Given the description of an element on the screen output the (x, y) to click on. 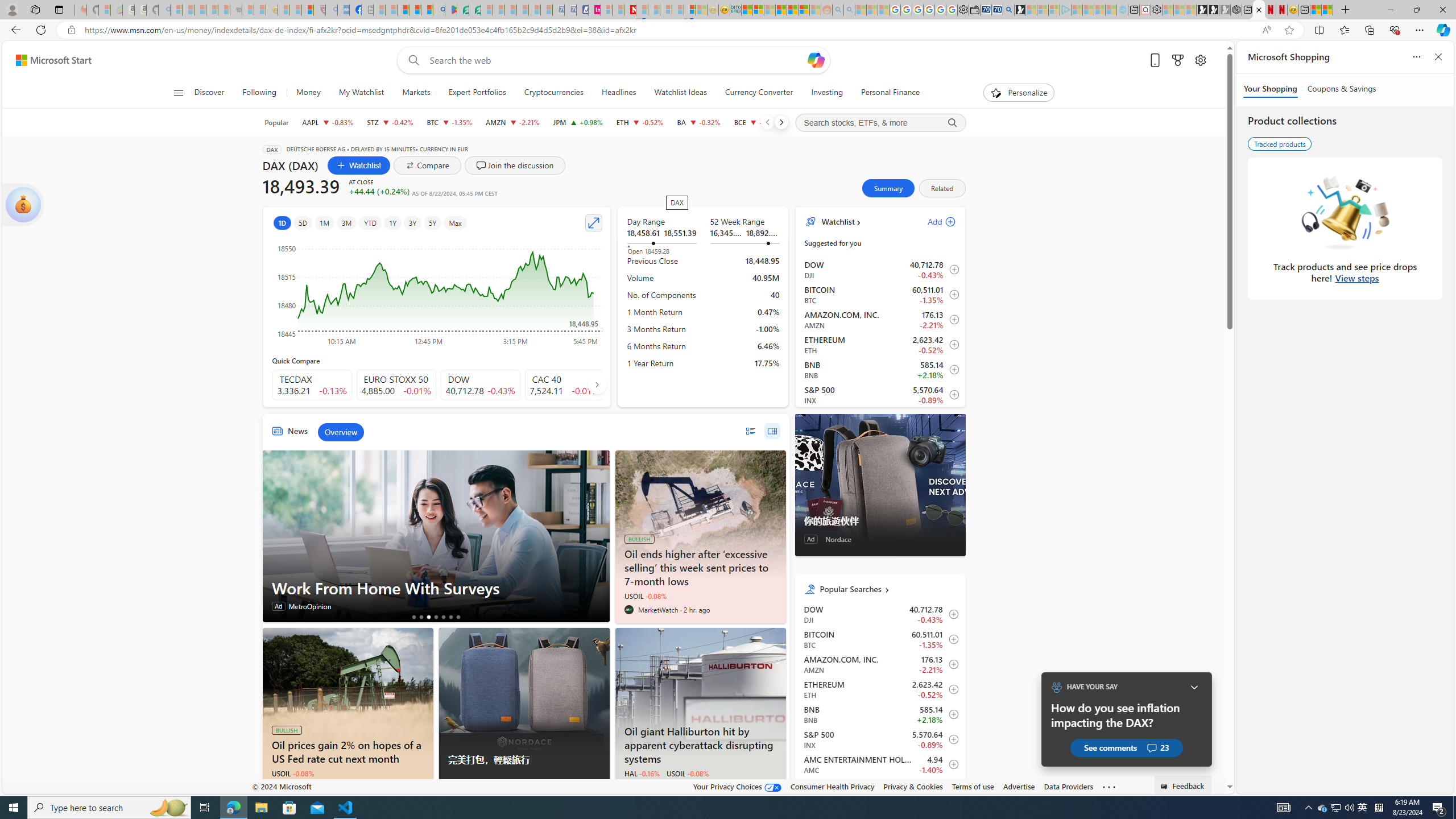
Overview (340, 432)
Class: feedback_link_icon-DS-EntryPoint1-1 (1165, 786)
Wildlife - MSN (1315, 9)
AutomationID: finance_carousel_navi_arrow (596, 384)
Data Providers (1068, 786)
list layout (750, 430)
Summary (887, 188)
BCE BCE Inc decrease 34.55 -0.07 -0.20% (756, 122)
